Given the description of an element on the screen output the (x, y) to click on. 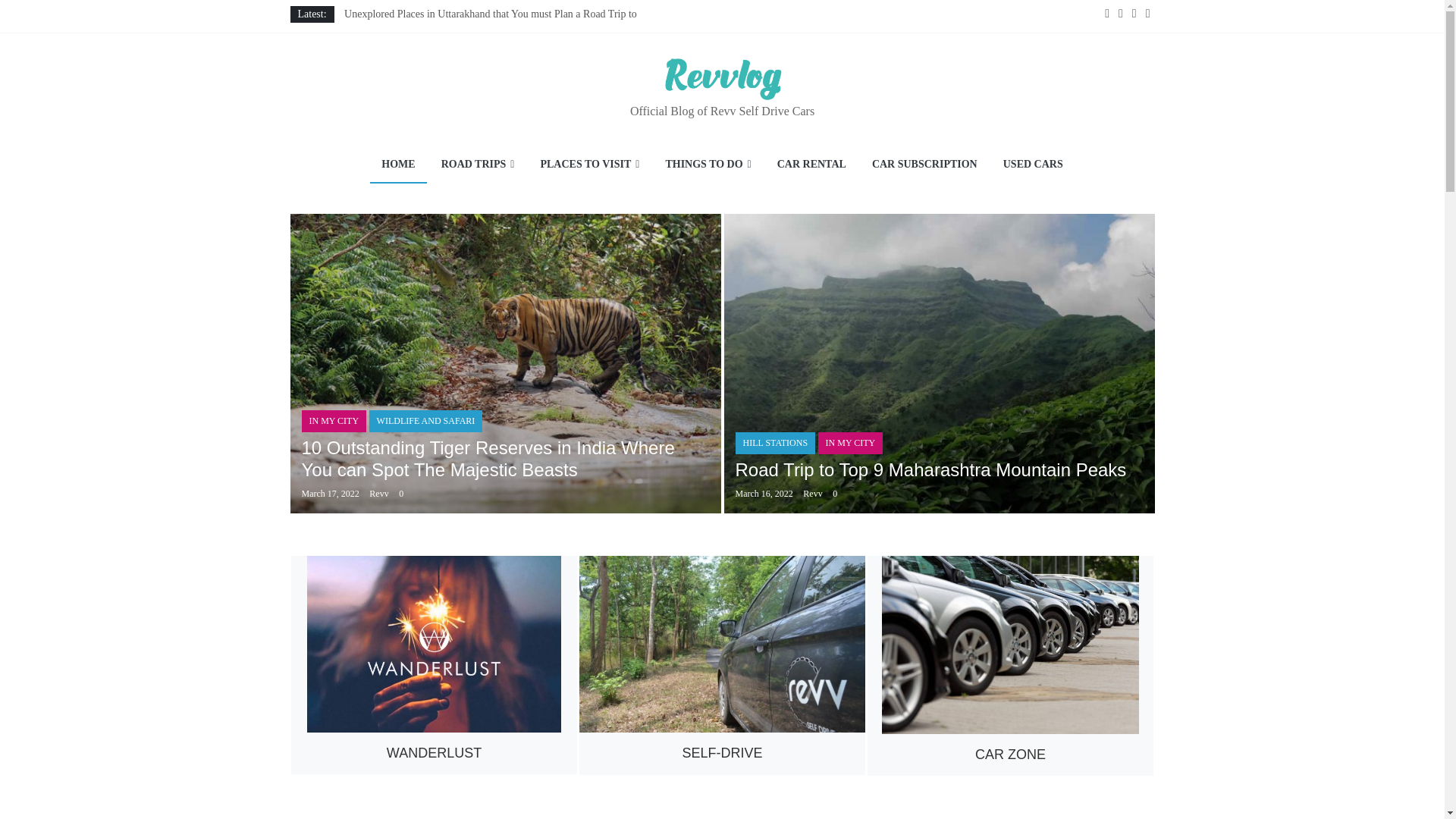
PLACES TO VISIT (589, 165)
ROAD TRIPS (477, 165)
HOME (397, 165)
USED CARS (1032, 165)
CAR SUBSCRIPTION (924, 165)
11 Most Beautiful Mosques in India that You Must Visit (472, 30)
8 Temples Praised for their Unique Architecture in India (473, 48)
10 Places to Visit in India for The History Aficionados (459, 66)
THINGS TO DO (707, 165)
CAR RENTAL (811, 165)
10 Places to Visit in India for The History Aficionados (459, 66)
